Given the description of an element on the screen output the (x, y) to click on. 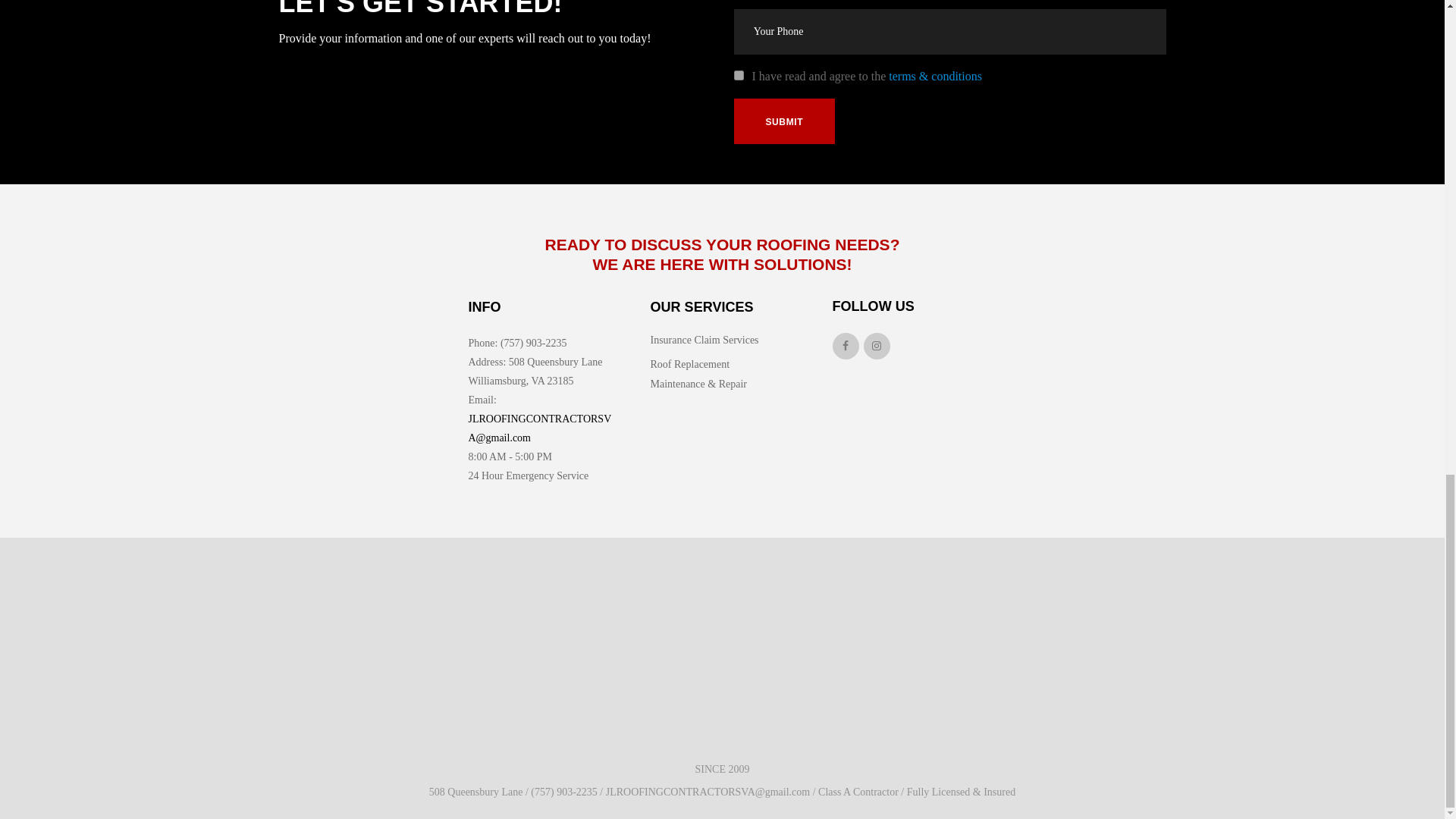
Roof Replacement (690, 364)
Insurance Claim Services (704, 339)
SUBMIT (784, 121)
1 (738, 75)
